Given the description of an element on the screen output the (x, y) to click on. 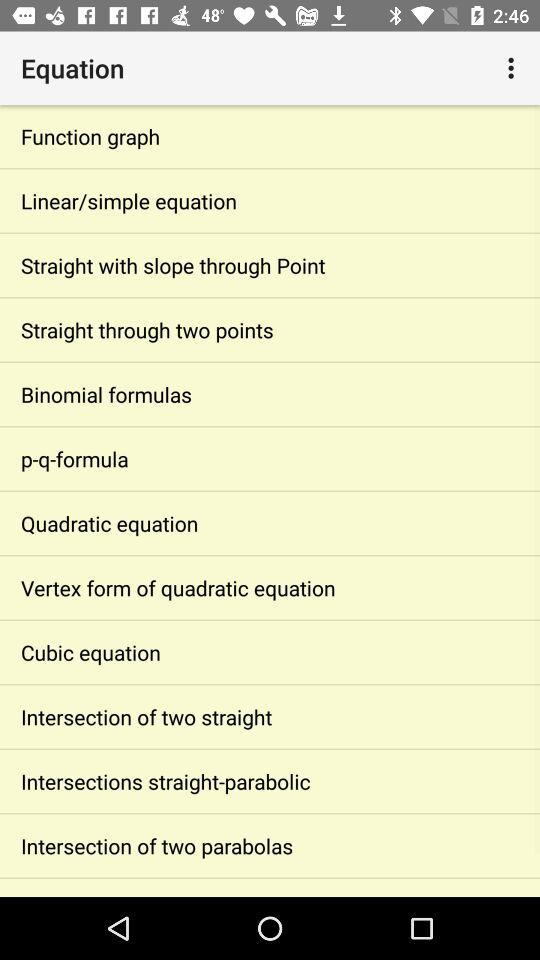
launch the icon above straight with slope app (270, 200)
